Given the description of an element on the screen output the (x, y) to click on. 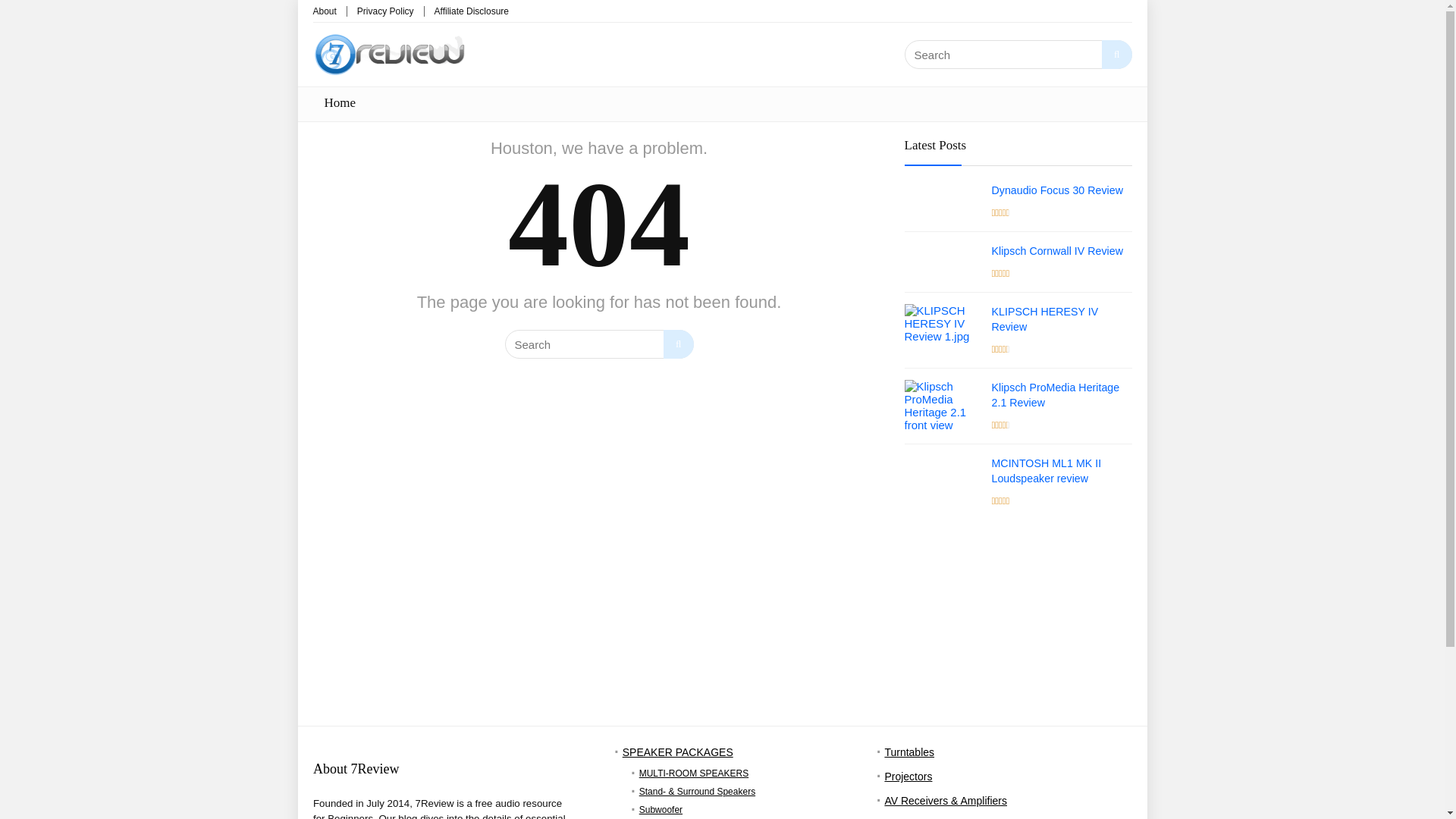
Klipsch ProMedia Heritage 2.1 Review (1055, 394)
KLIPSCH HERESY IV Review (1045, 318)
MCINTOSH ML1 MK II Loudspeaker review (1046, 470)
Turntables (908, 752)
About (324, 10)
Subwoofer (660, 809)
Klipsch Cornwall IV Review (1056, 250)
Projectors (907, 776)
Privacy Policy (384, 10)
SPEAKER PACKAGES (678, 752)
MULTI-ROOM SPEAKERS (693, 773)
Affiliate Disclosure (470, 10)
Home (339, 103)
Dynaudio Focus 30 Review (1056, 190)
